Given the description of an element on the screen output the (x, y) to click on. 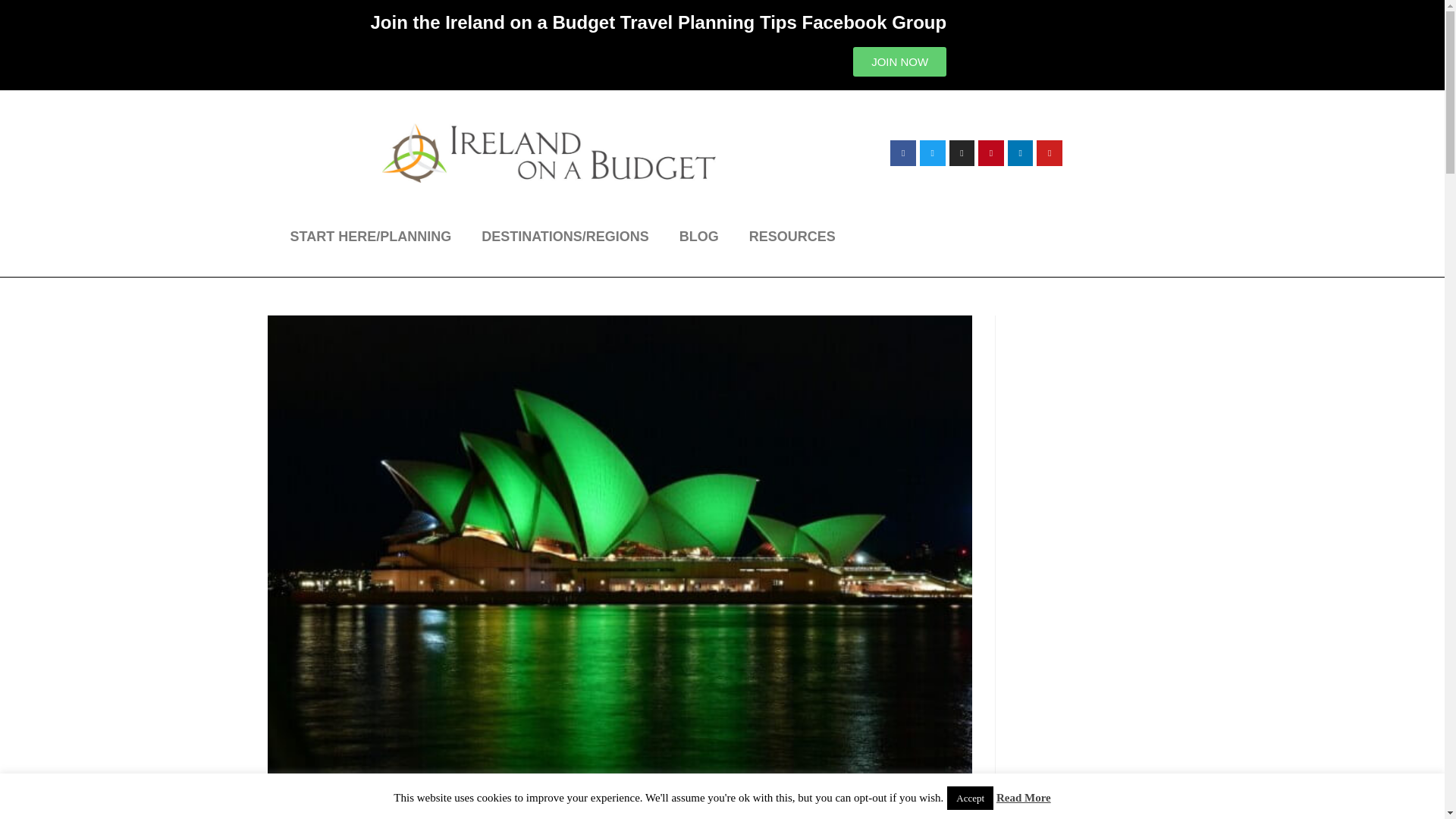
BLOG (698, 236)
RESOURCES (791, 236)
JOIN NOW (899, 61)
